Given the description of an element on the screen output the (x, y) to click on. 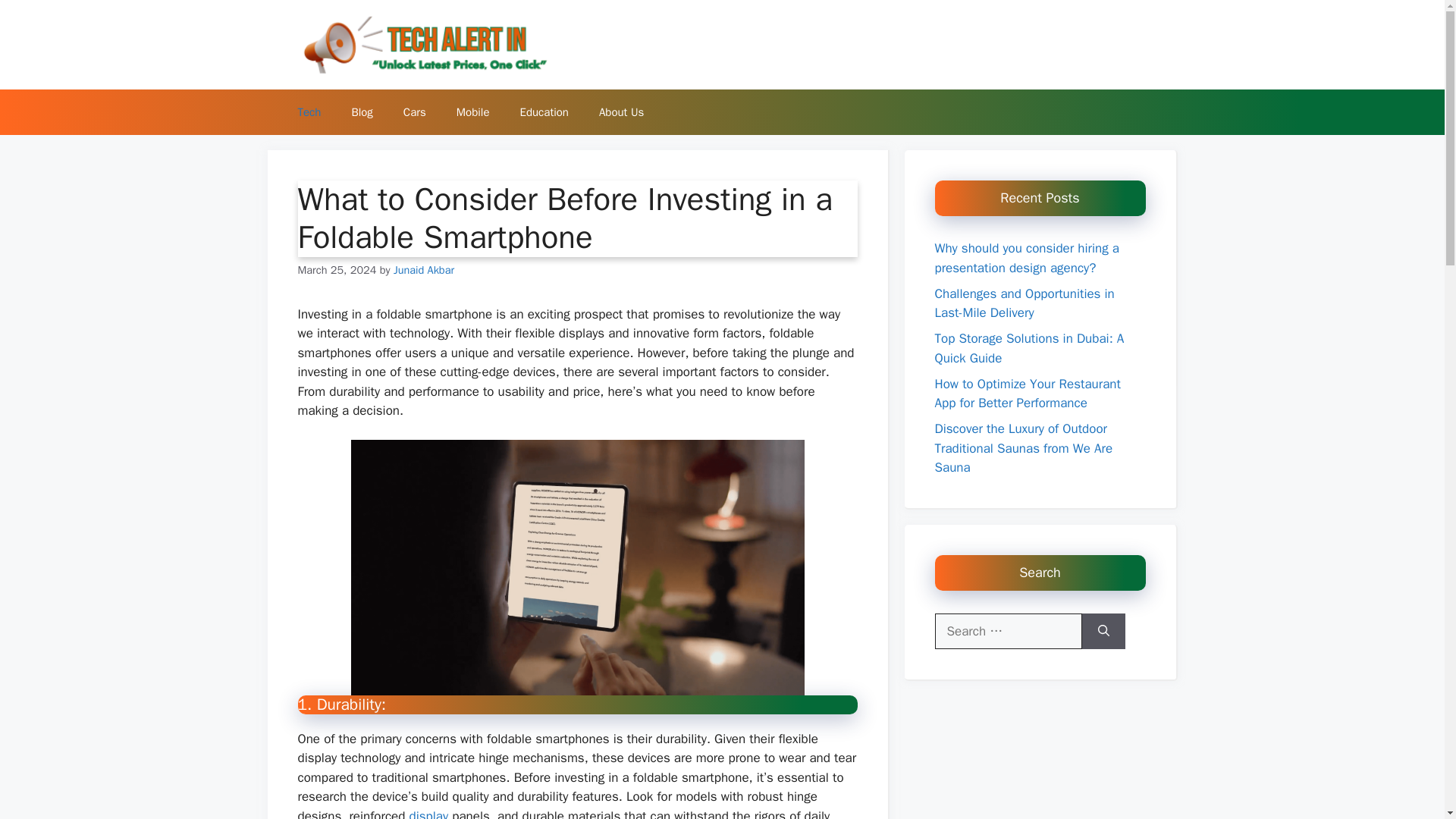
View all posts by Junaid Akbar (423, 269)
Why should you consider hiring a presentation design agency? (1026, 258)
Tech (309, 112)
Mobile (473, 112)
Blog (361, 112)
Search for: (1007, 630)
Education (544, 112)
How to Optimize Your Restaurant App for Better Performance (1026, 393)
Cars (414, 112)
Challenges and Opportunities in Last-Mile Delivery (1023, 303)
